Given the description of an element on the screen output the (x, y) to click on. 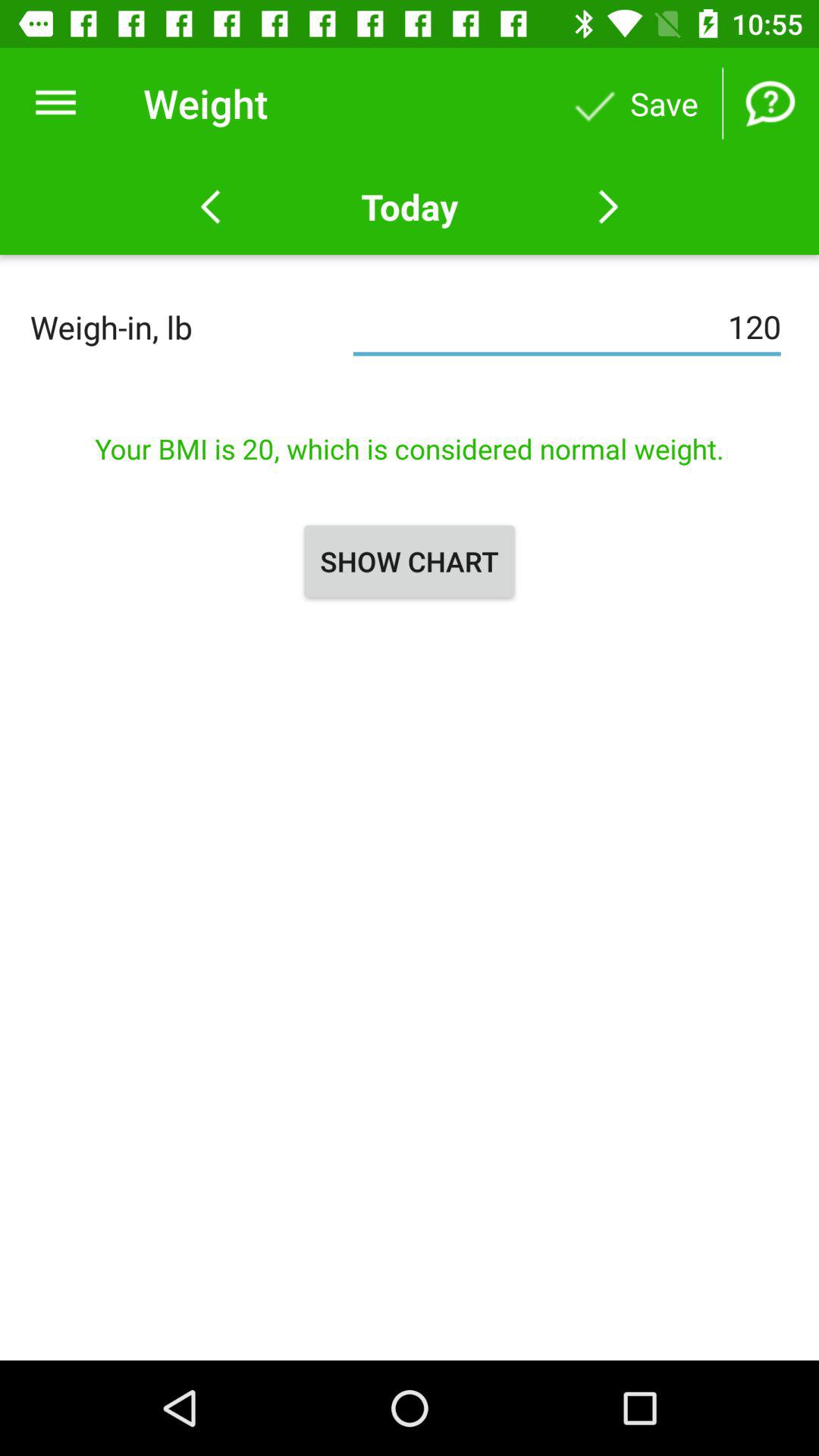
go to previous weigh in (210, 206)
